Given the description of an element on the screen output the (x, y) to click on. 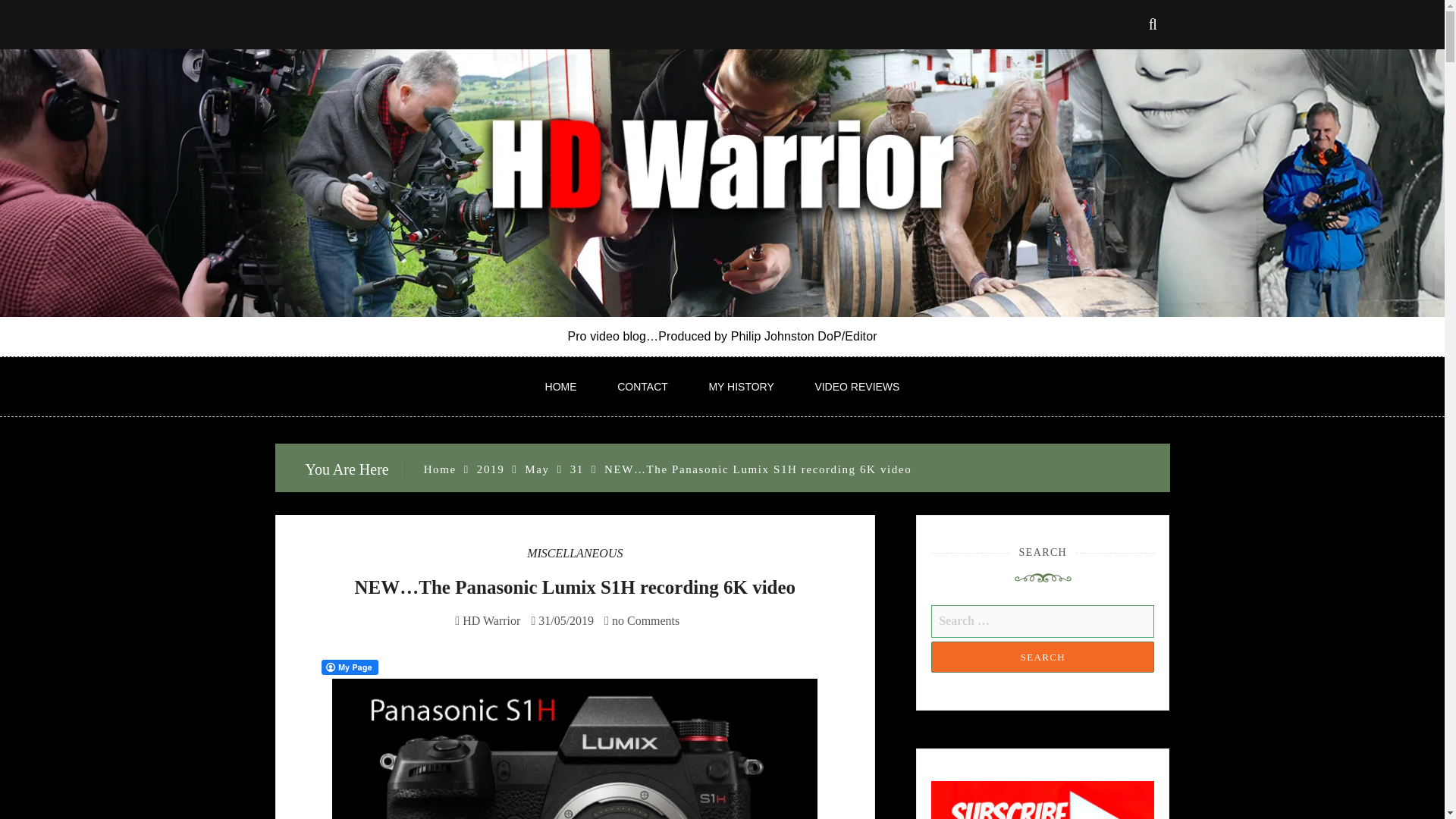
MY HISTORY (741, 386)
2019 (490, 469)
May (536, 469)
CONTACT (641, 386)
Search (1042, 656)
HD Warrior (491, 620)
31 (576, 469)
MISCELLANEOUS (575, 553)
VIDEO REVIEWS (856, 386)
HOME (561, 386)
Search (1042, 656)
no Comments (641, 620)
Search (1042, 656)
Home (440, 469)
